Given the description of an element on the screen output the (x, y) to click on. 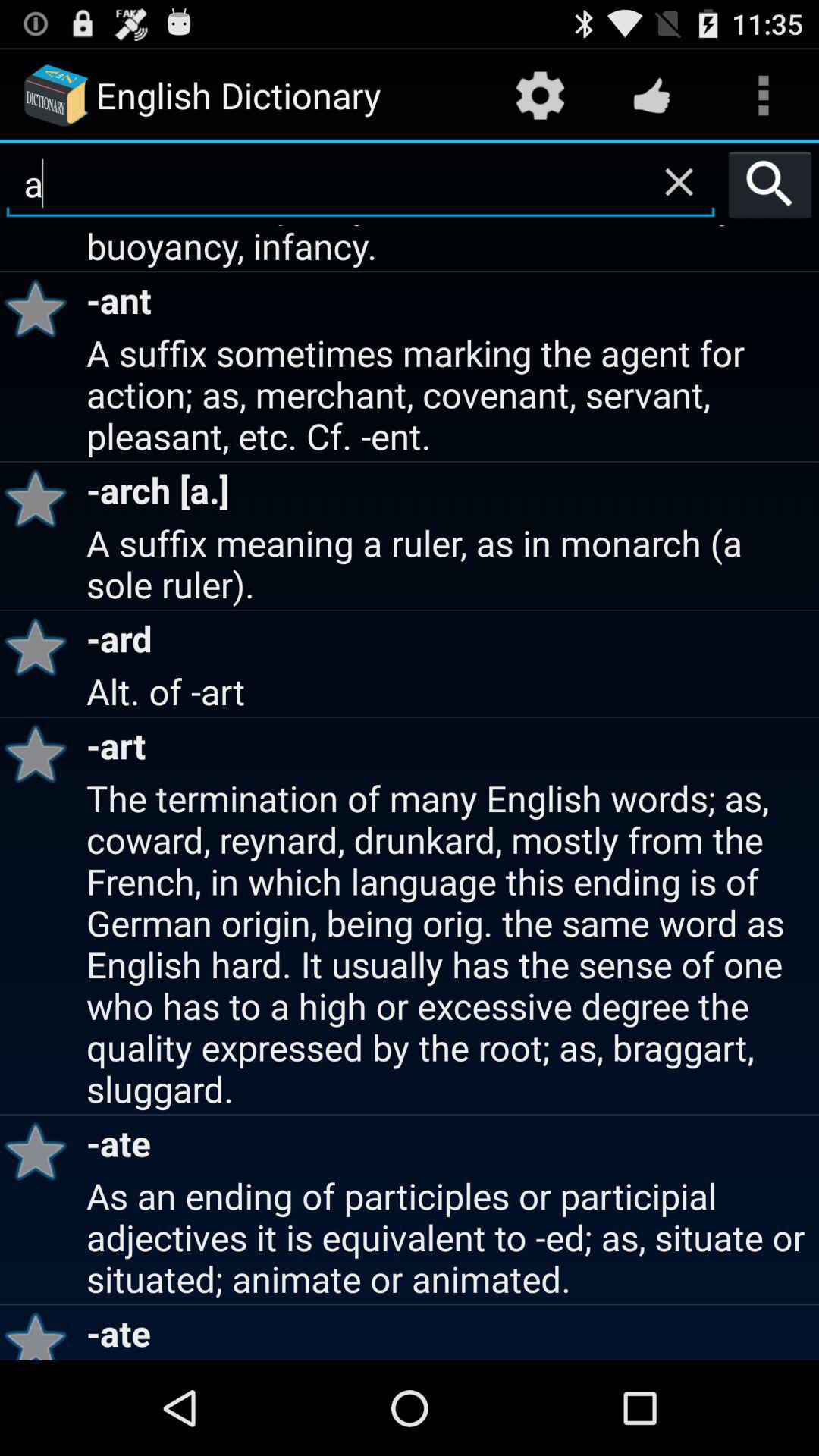
turn on item below the termination of icon (41, 1150)
